Given the description of an element on the screen output the (x, y) to click on. 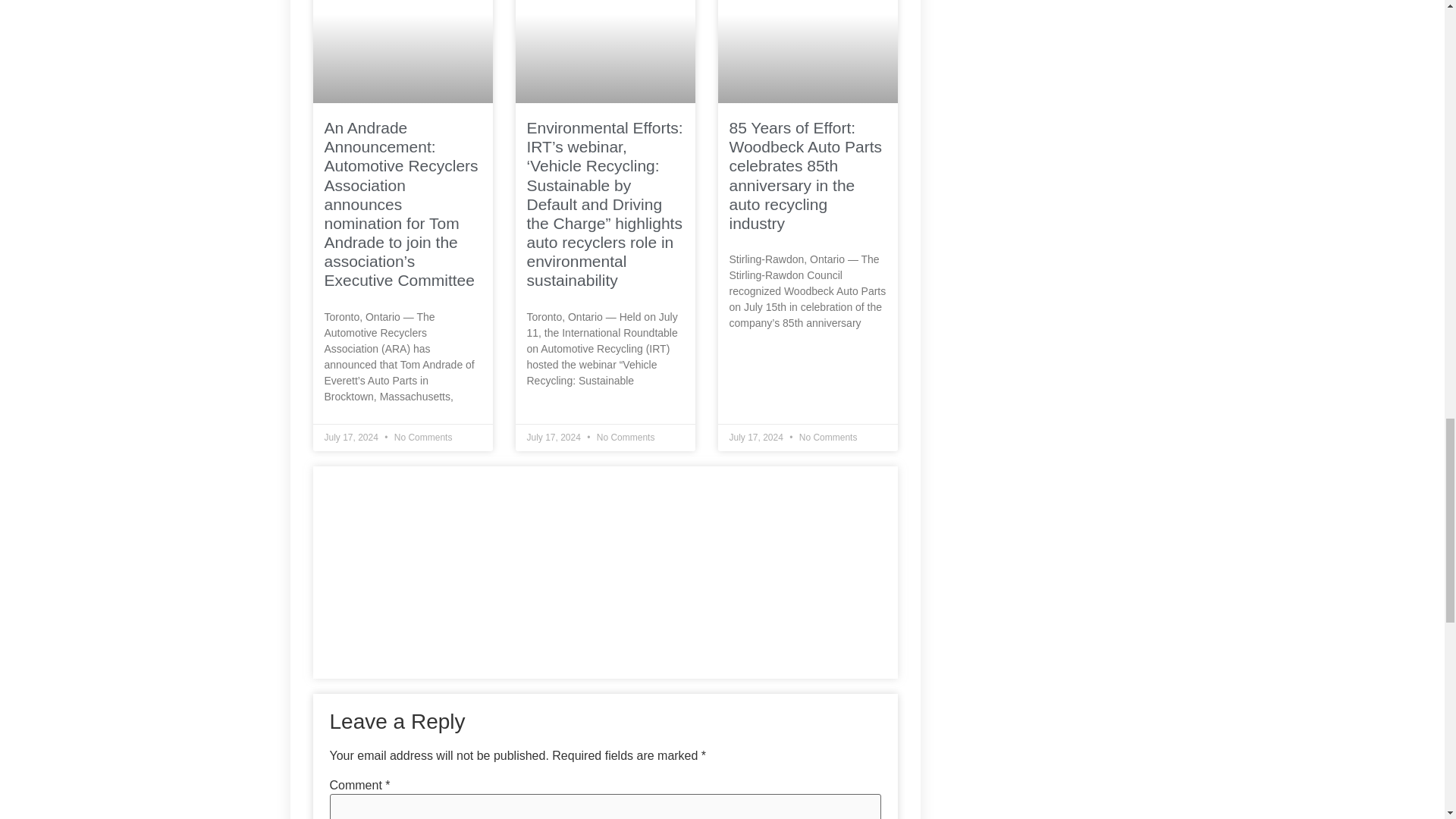
Advertisement (604, 572)
